Given the description of an element on the screen output the (x, y) to click on. 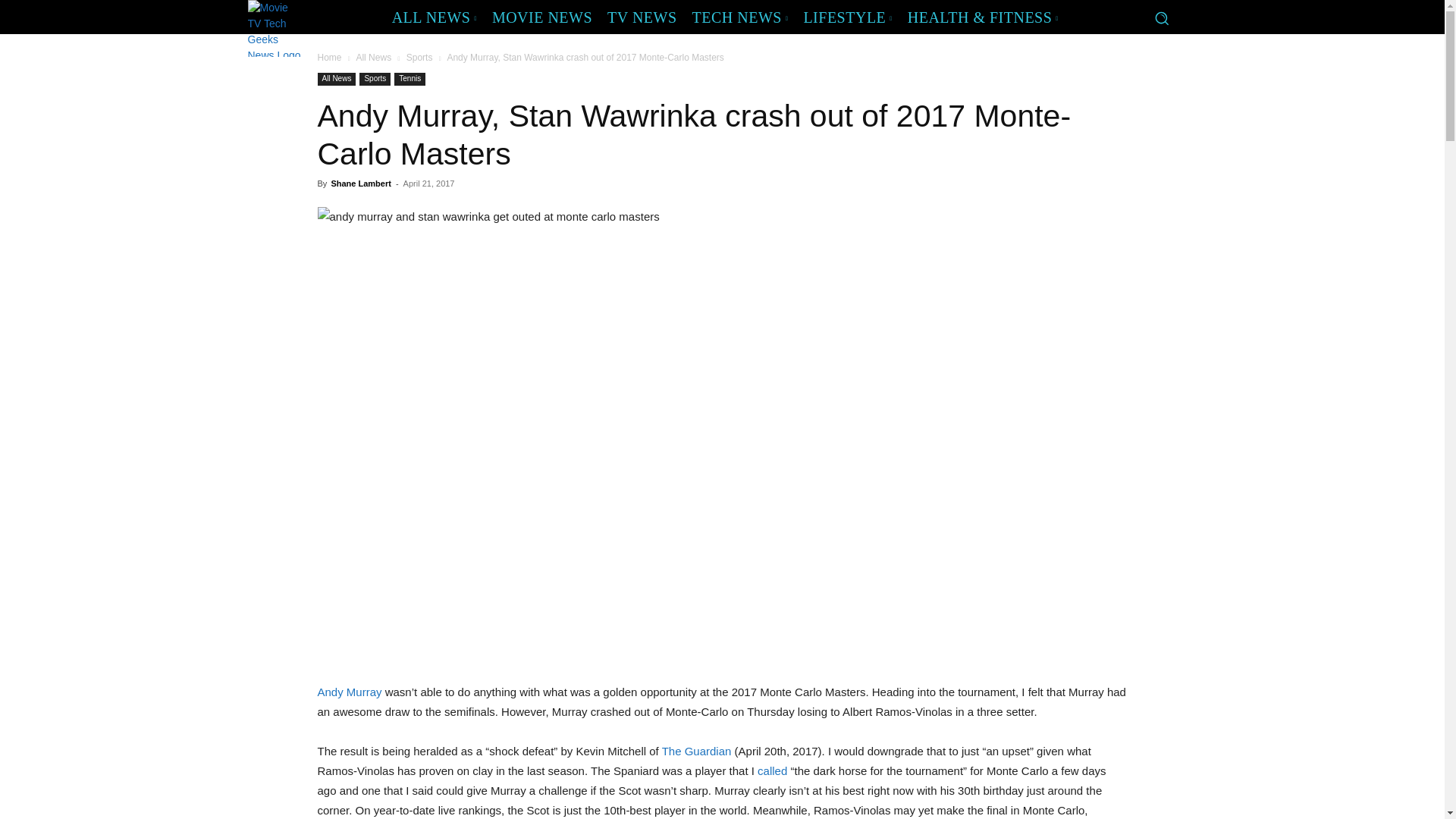
Home (328, 57)
ALL NEWS (434, 17)
MOVIE NEWS (541, 17)
All News (373, 57)
View all posts in All News (373, 57)
The Guardian (697, 750)
All News (336, 78)
TV NEWS (641, 17)
Sports (419, 57)
Movie TV Tech Geeks News Logo (274, 28)
View all posts in Sports (419, 57)
Tennis (409, 78)
LIFESTYLE (846, 17)
Sports (374, 78)
